Given the description of an element on the screen output the (x, y) to click on. 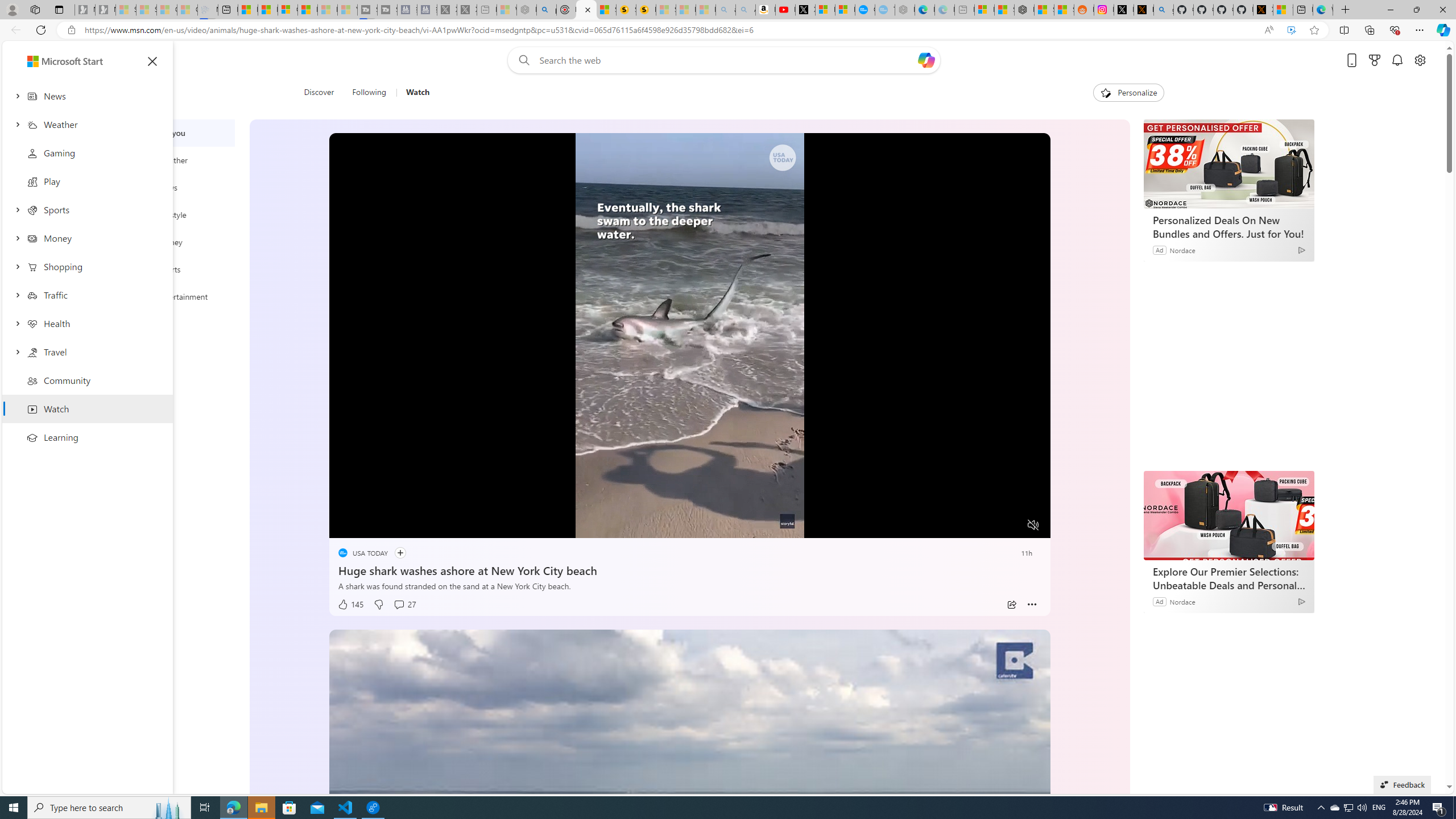
Skip to footer (46, 59)
Watch (417, 92)
More (1031, 604)
Nordace - Duffels (1024, 9)
Unmute (1033, 524)
Log in to X / X (1123, 9)
Newsletter Sign Up - Sleeping (105, 9)
Streaming Coverage | T3 - Sleeping (366, 9)
Personalized Deals On New Bundles and Offers. Just for You! (1228, 163)
